Given the description of an element on the screen output the (x, y) to click on. 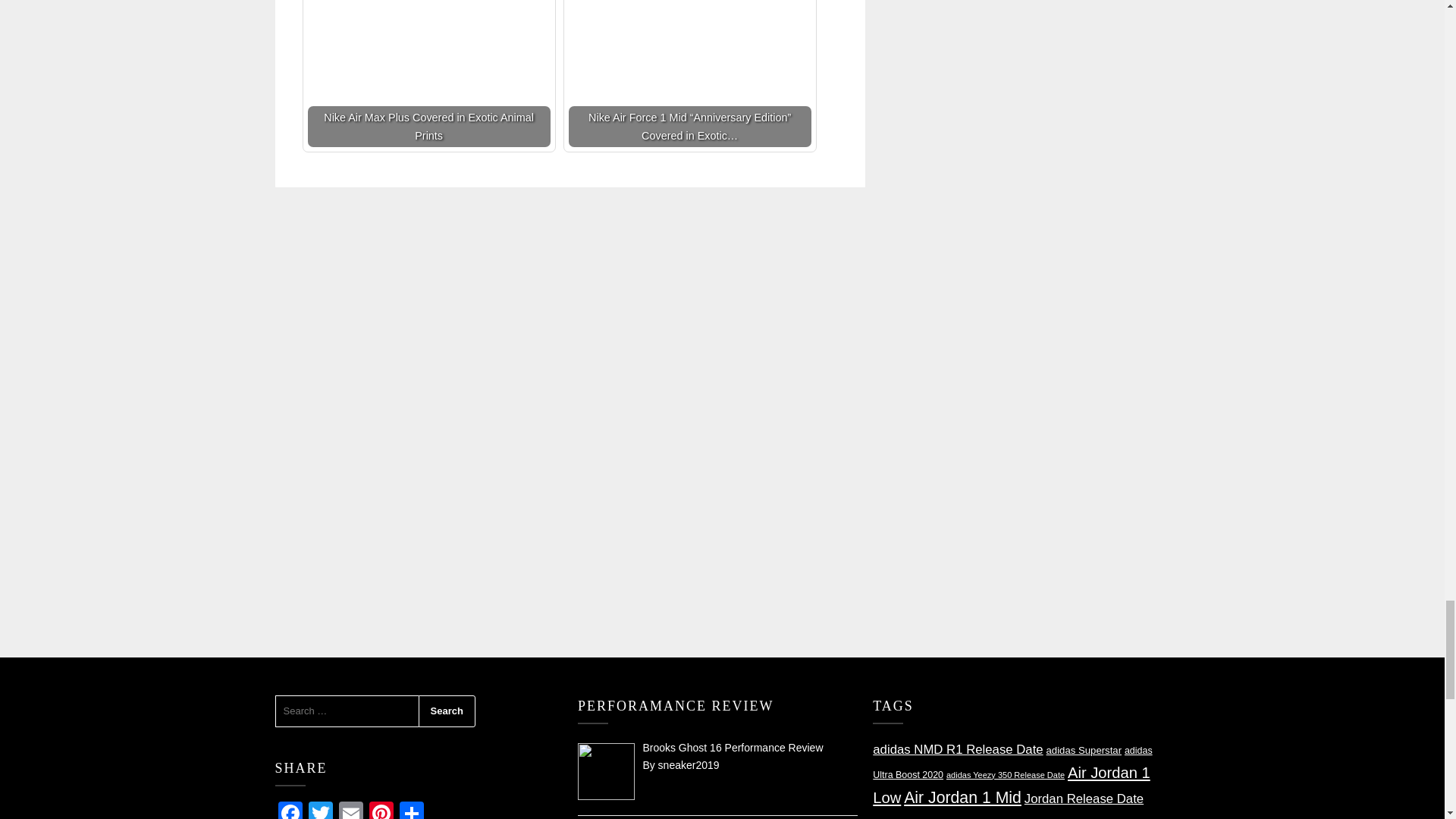
Search (447, 711)
Nike Air Max Plus Covered in Exotic Animal Prints (428, 73)
Twitter (319, 810)
Search (447, 711)
Pinterest (380, 810)
Pinterest (380, 810)
Twitter (319, 810)
Facebook (289, 810)
Email (349, 810)
Facebook (289, 810)
Search (447, 711)
Email (349, 810)
